Given the description of an element on the screen output the (x, y) to click on. 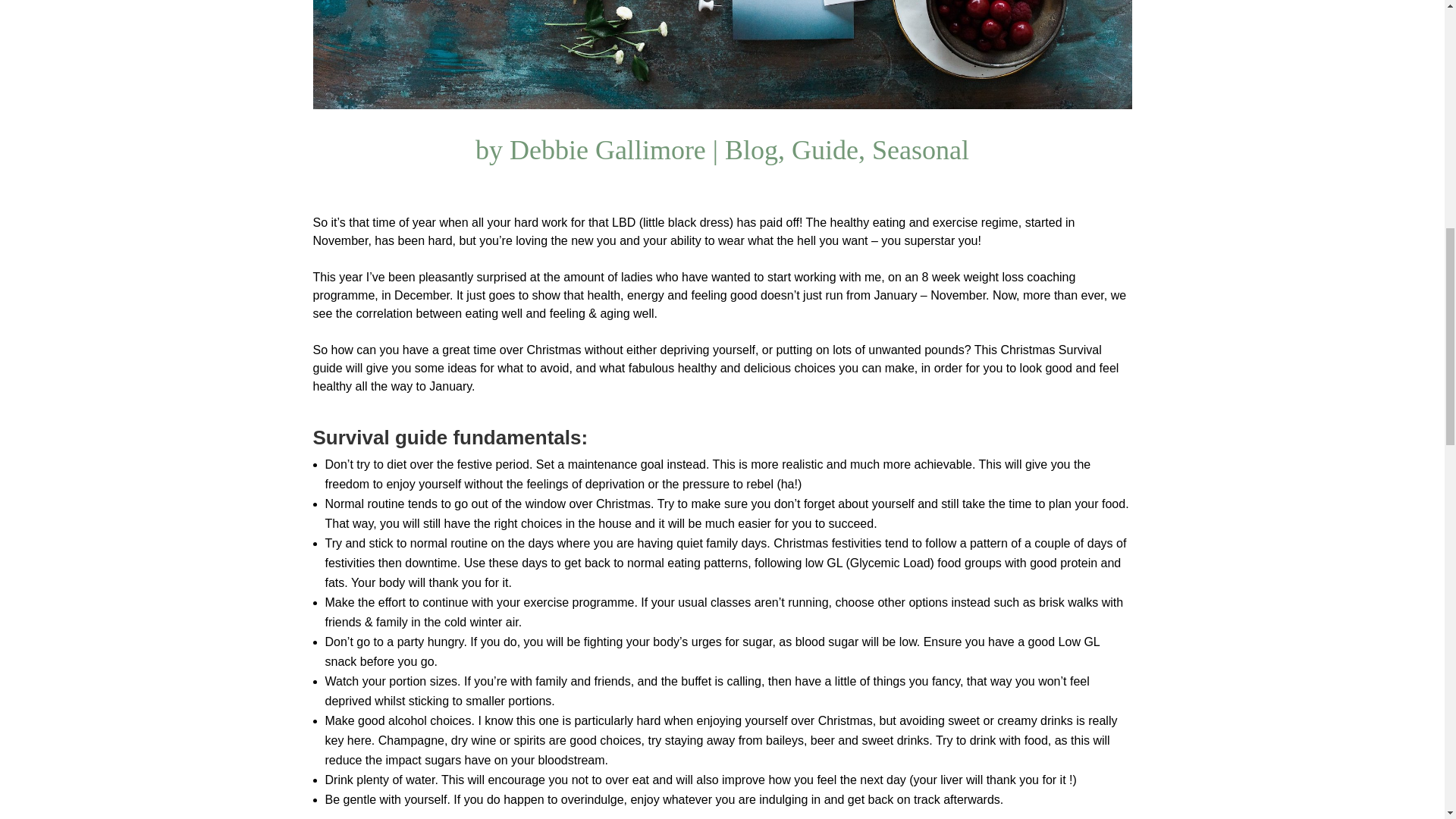
The Christmas Survival Guide (722, 54)
Debbie Gallimore (607, 150)
Blog (751, 150)
Guide (825, 150)
Seasonal (920, 150)
Posts by Debbie Gallimore (607, 150)
